Given the description of an element on the screen output the (x, y) to click on. 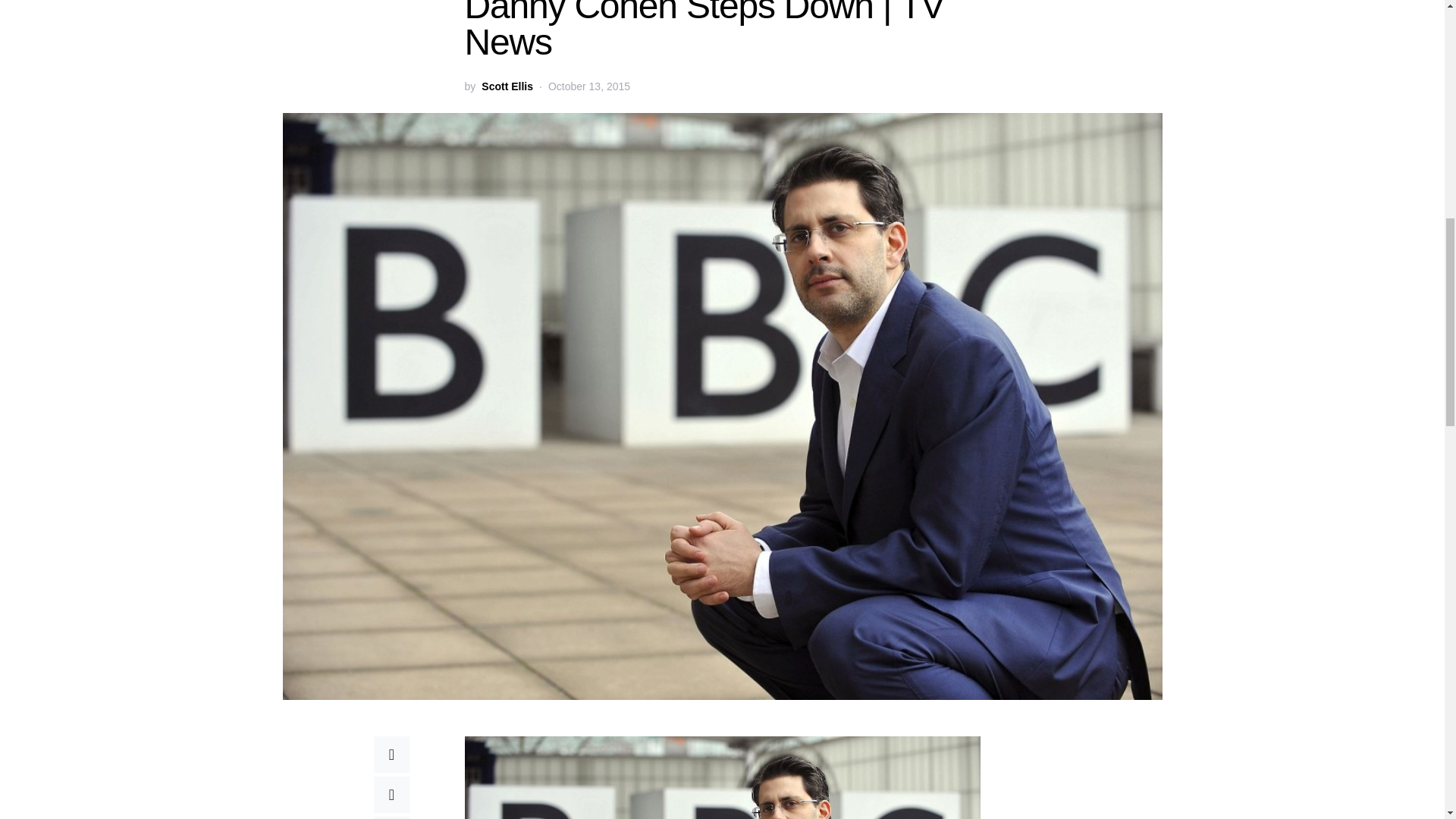
View all posts by Scott Ellis (506, 86)
